Given the description of an element on the screen output the (x, y) to click on. 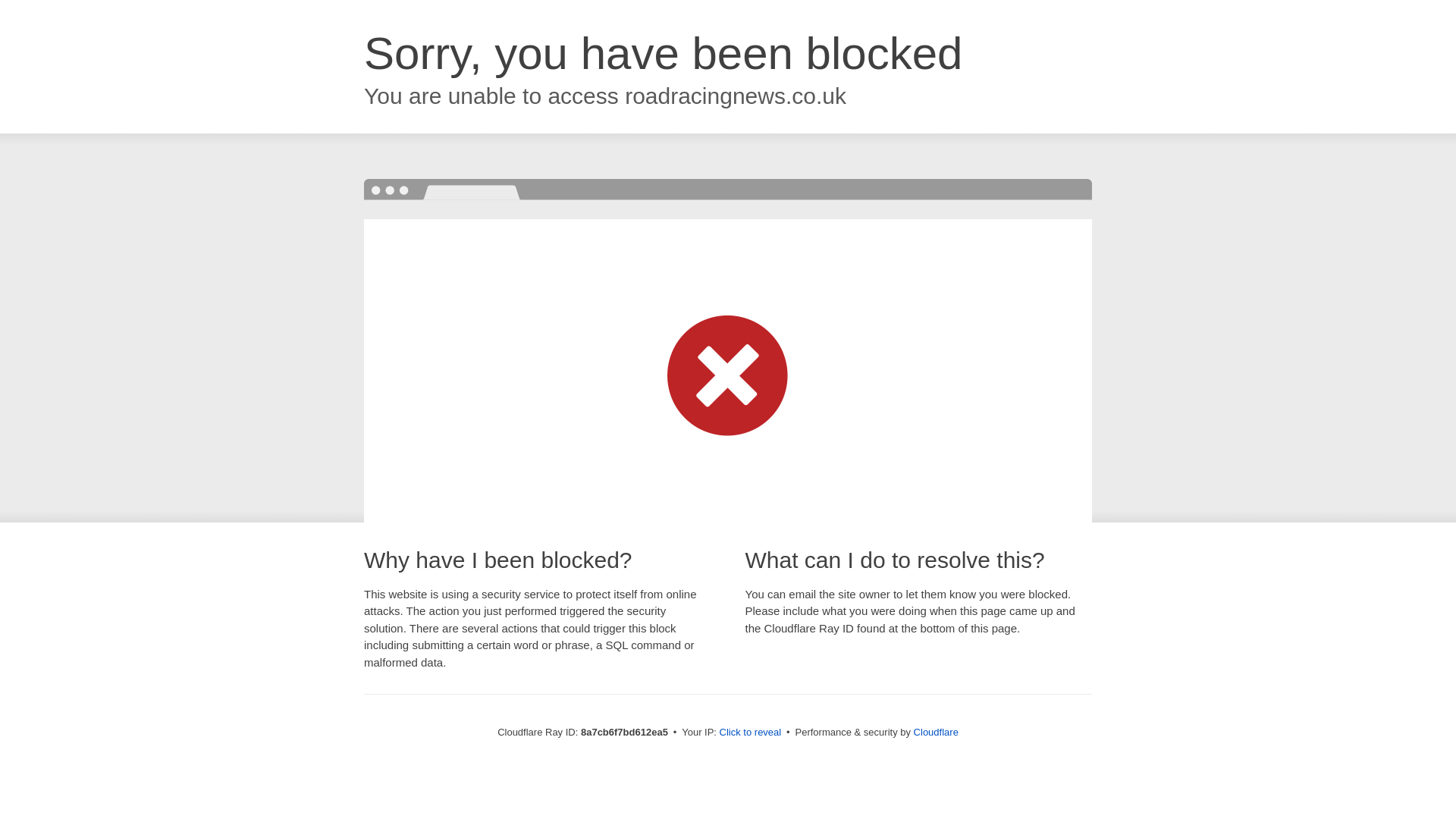
Cloudflare (936, 731)
Click to reveal (750, 732)
